Given the description of an element on the screen output the (x, y) to click on. 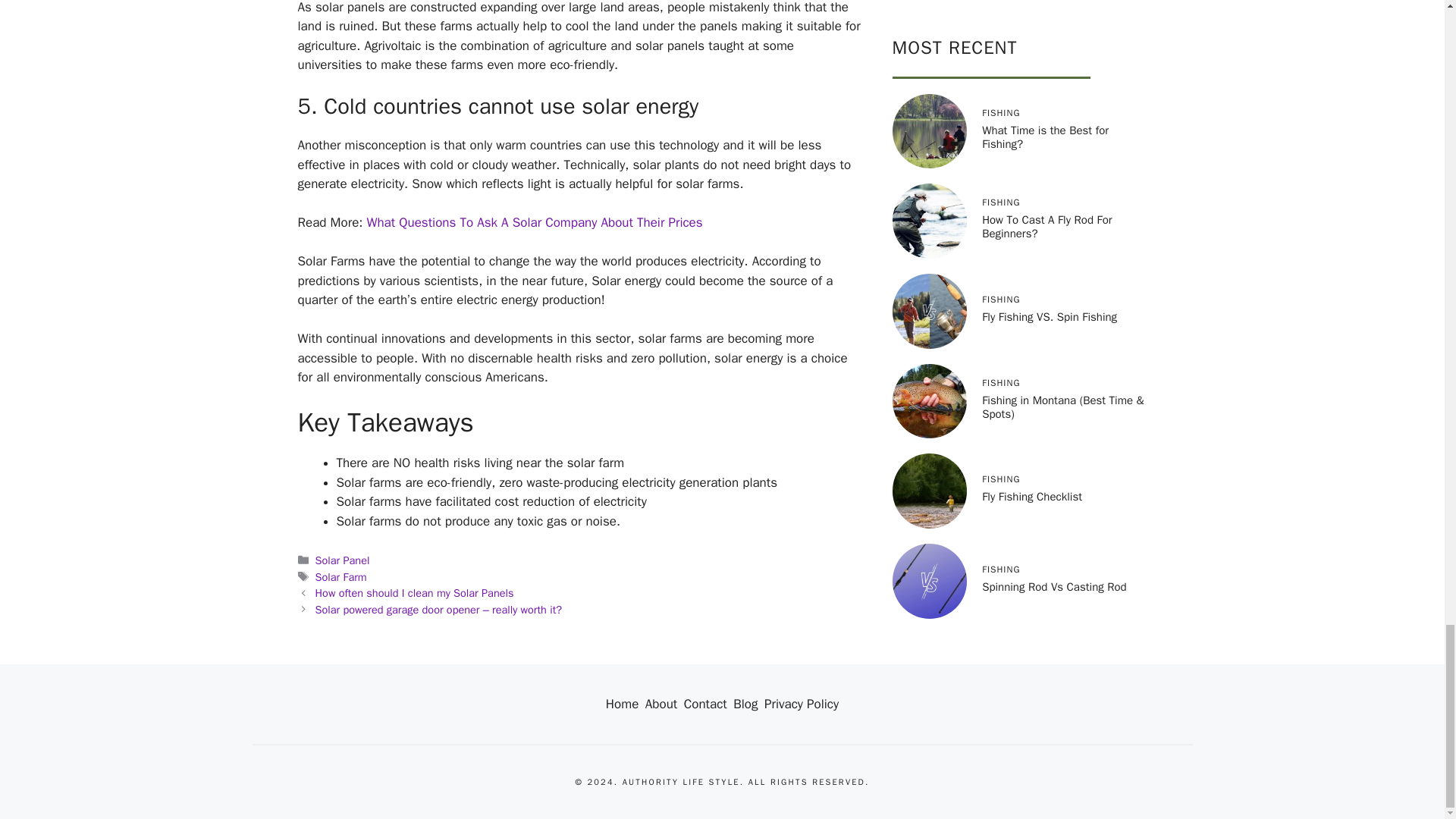
Solar Panel (342, 560)
What Questions To Ask A Solar Company About Their Prices (534, 222)
Solar Farm (340, 576)
How often should I clean my Solar Panels (414, 592)
